Given the description of an element on the screen output the (x, y) to click on. 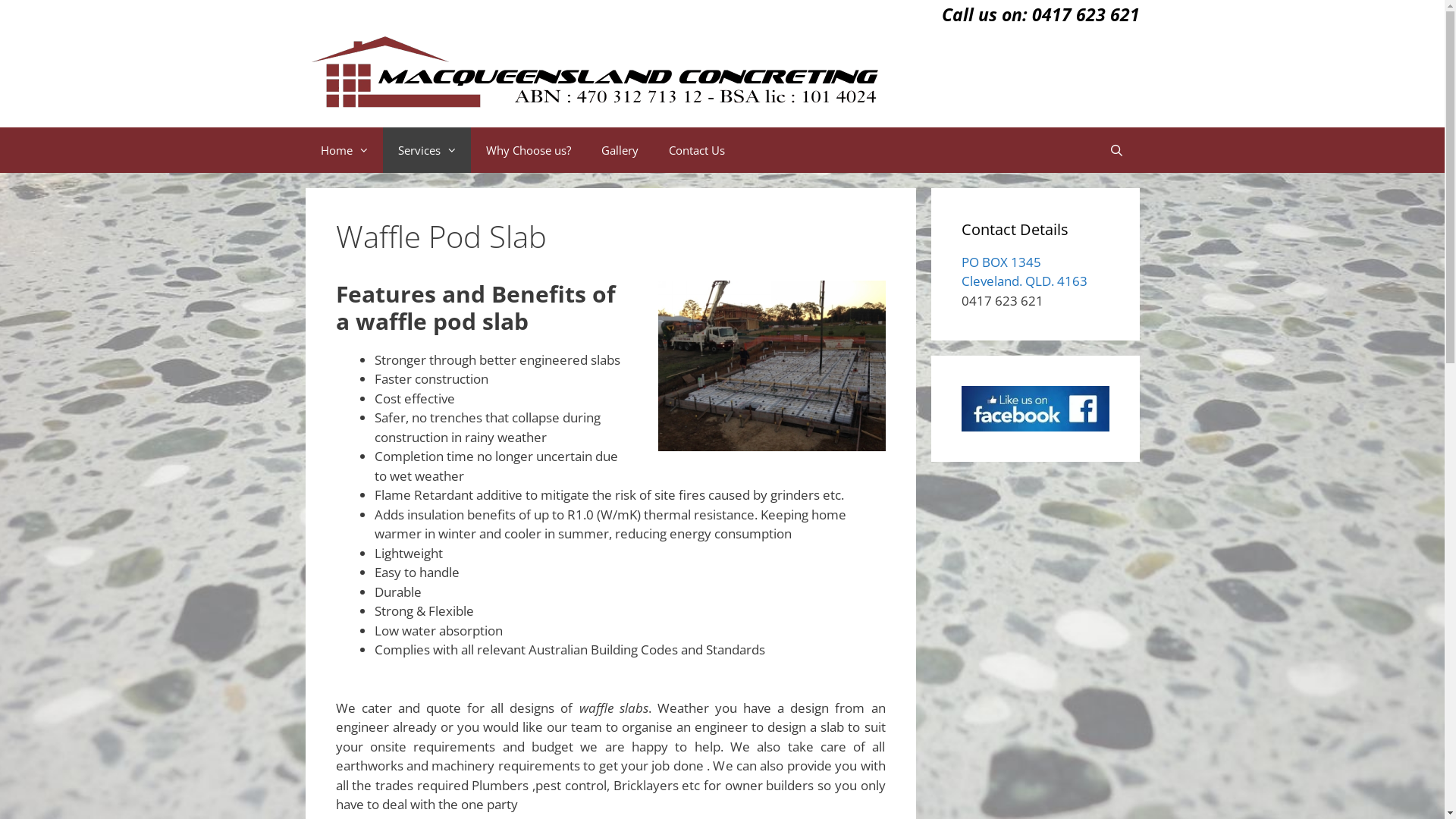
Services Element type: text (426, 149)
Gallery Element type: text (618, 149)
Search Element type: text (1116, 149)
Contact Us Element type: text (696, 149)
Home Element type: text (343, 149)
Why Choose us? Element type: text (527, 149)
PO BOX 1345
Cleveland. QLD. 4163 Element type: text (1024, 271)
